Given the description of an element on the screen output the (x, y) to click on. 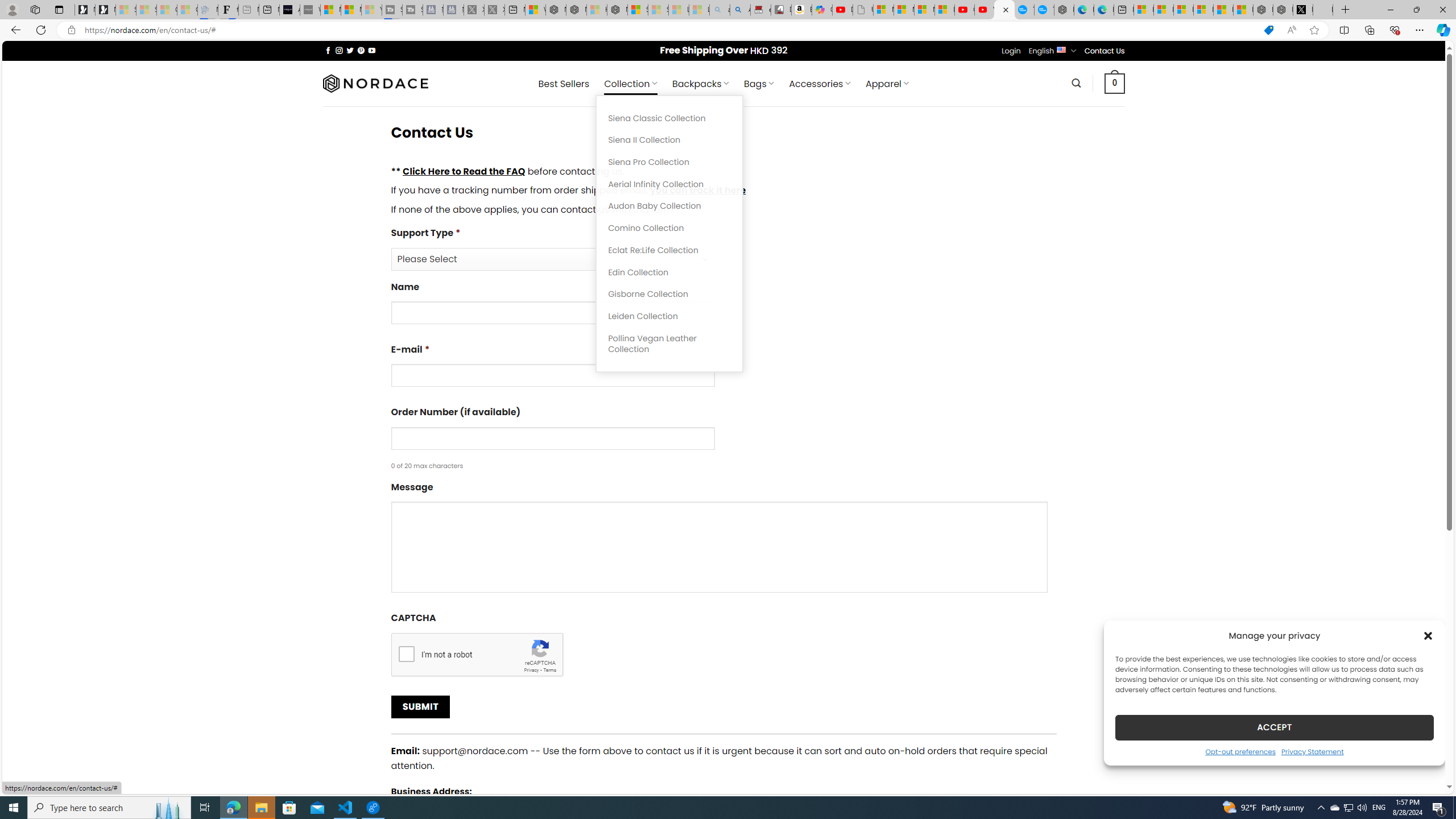
Order Number (if available)0 of 20 max characters (723, 437)
Nordace - Nordace has arrived Hong Kong (1063, 9)
Gloom - YouTube (964, 9)
Name (723, 306)
